Given the description of an element on the screen output the (x, y) to click on. 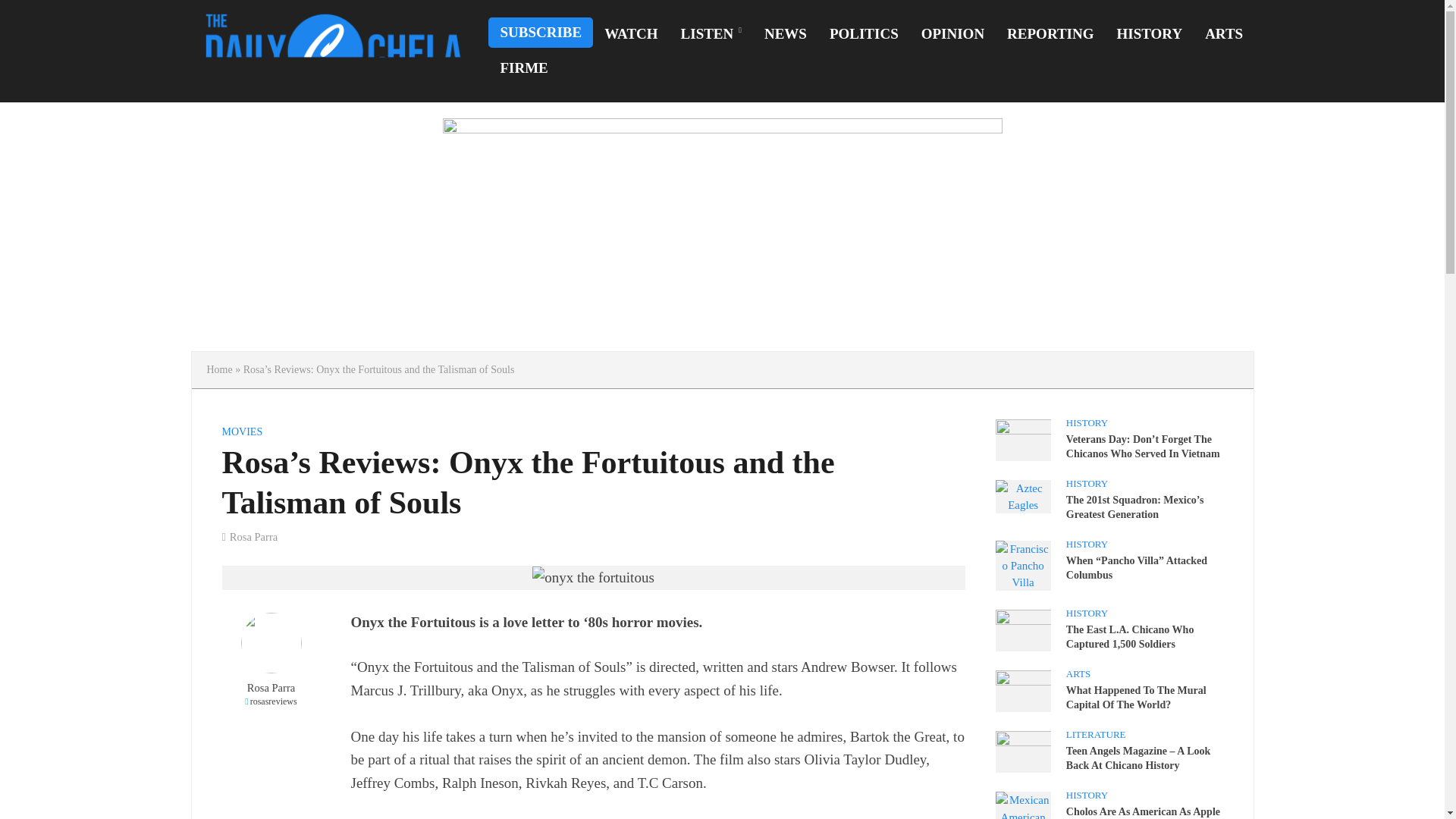
REPORTING (1050, 34)
POLITICS (864, 34)
NEWS (785, 34)
The East L.A. Chicano Who Captured 1,500 Soldiers (1021, 629)
rosasreviews (270, 701)
Cholos Are As American As Apple Pie (1021, 814)
What Happened To The Mural Capital Of The World? (1021, 689)
FIRME (523, 68)
OPINION (952, 34)
HISTORY (1149, 34)
